Given the description of an element on the screen output the (x, y) to click on. 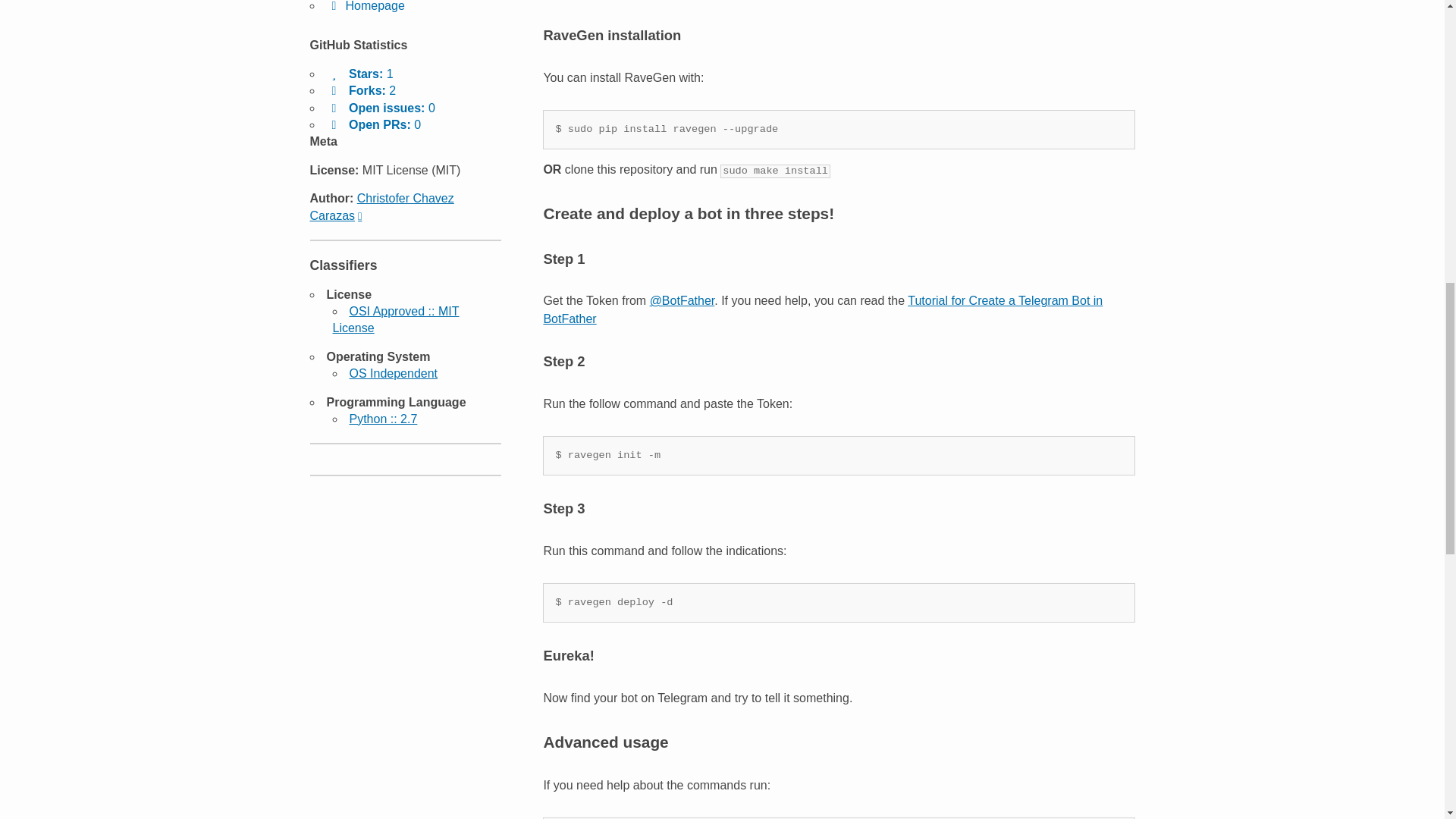
Python :: 2.7 (382, 418)
OS Independent (393, 373)
Forks: 2 (361, 90)
Stars: 1 (359, 73)
Open PRs: 0 (373, 124)
OSI Approved :: MIT License (394, 319)
Christofer Chavez Carazas (380, 206)
Homepage (365, 6)
Open issues: 0 (379, 107)
